Given the description of an element on the screen output the (x, y) to click on. 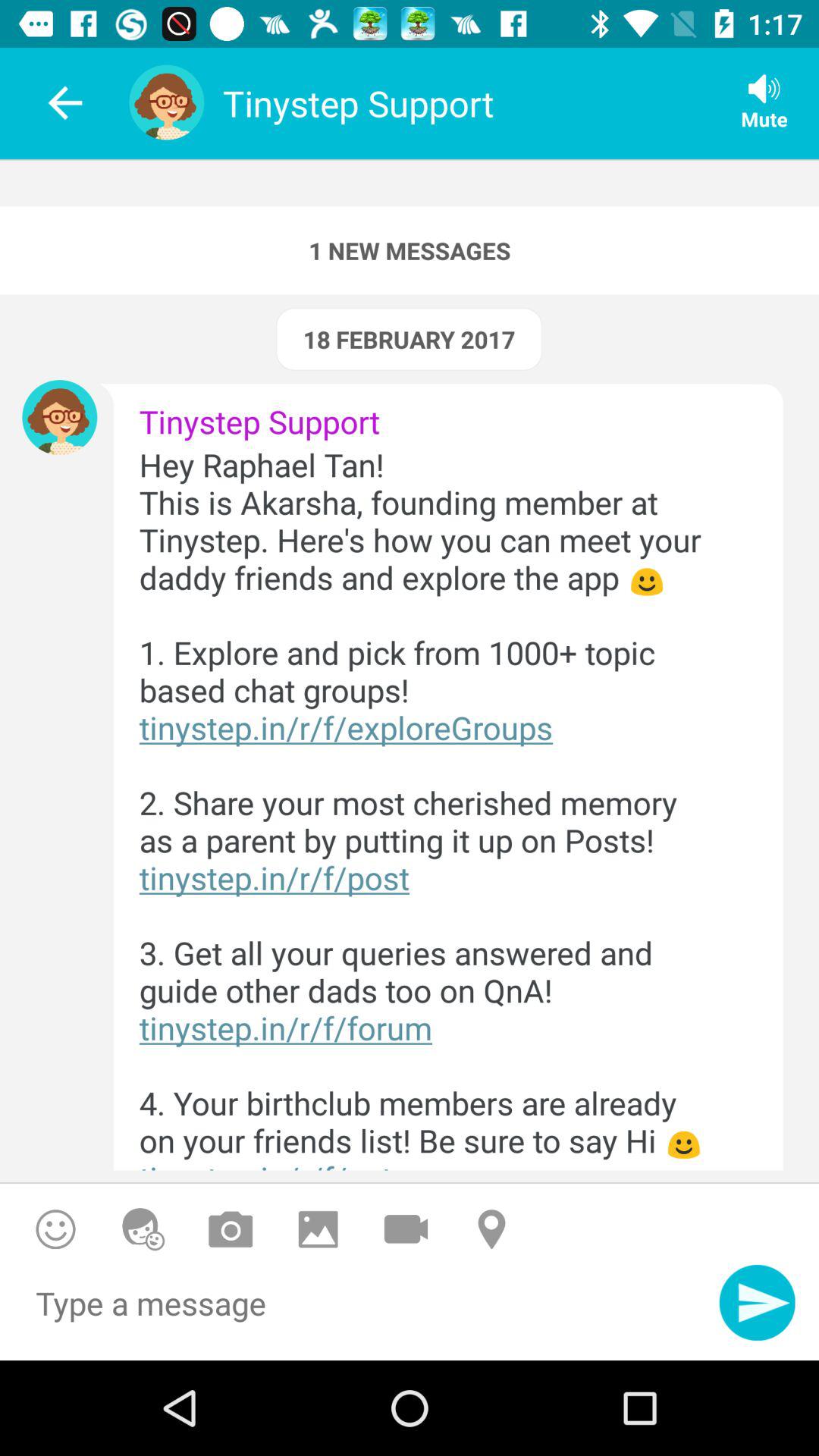
swipe to the 1 new messages icon (409, 250)
